Given the description of an element on the screen output the (x, y) to click on. 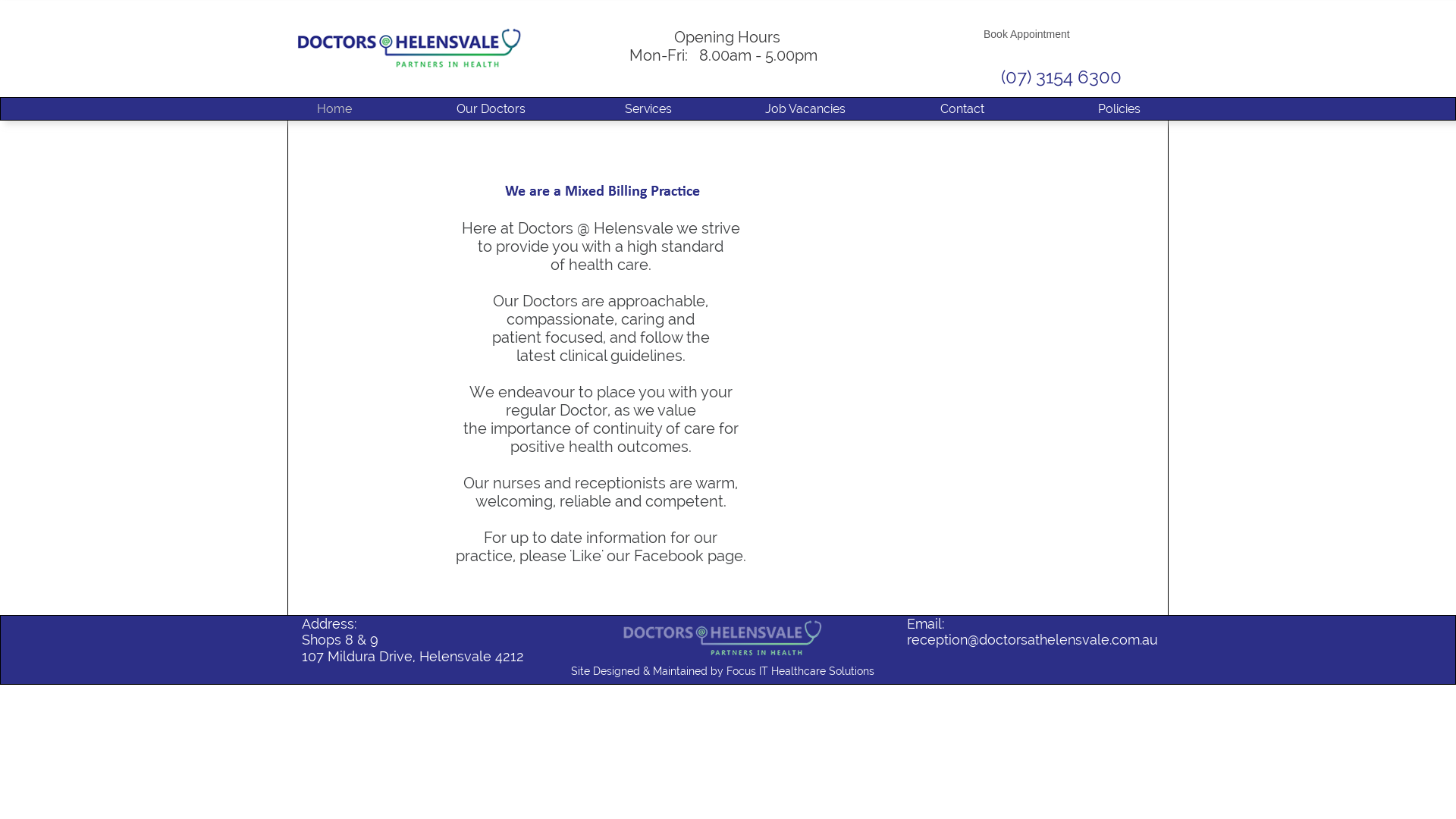
Contact Element type: text (961, 108)
Services Element type: text (647, 108)
Home Element type: text (334, 108)
(07) 3154 6300 Element type: text (1061, 76)
Job Vacancies Element type: text (804, 108)
Book Appointment Element type: text (1026, 34)
Focus IT Healthcare Solutions Element type: text (800, 671)
reception@doctorsathelensvale.com.au Element type: text (1031, 639)
Policies Element type: text (1118, 108)
Our Doctors Element type: text (490, 108)
